Given the description of an element on the screen output the (x, y) to click on. 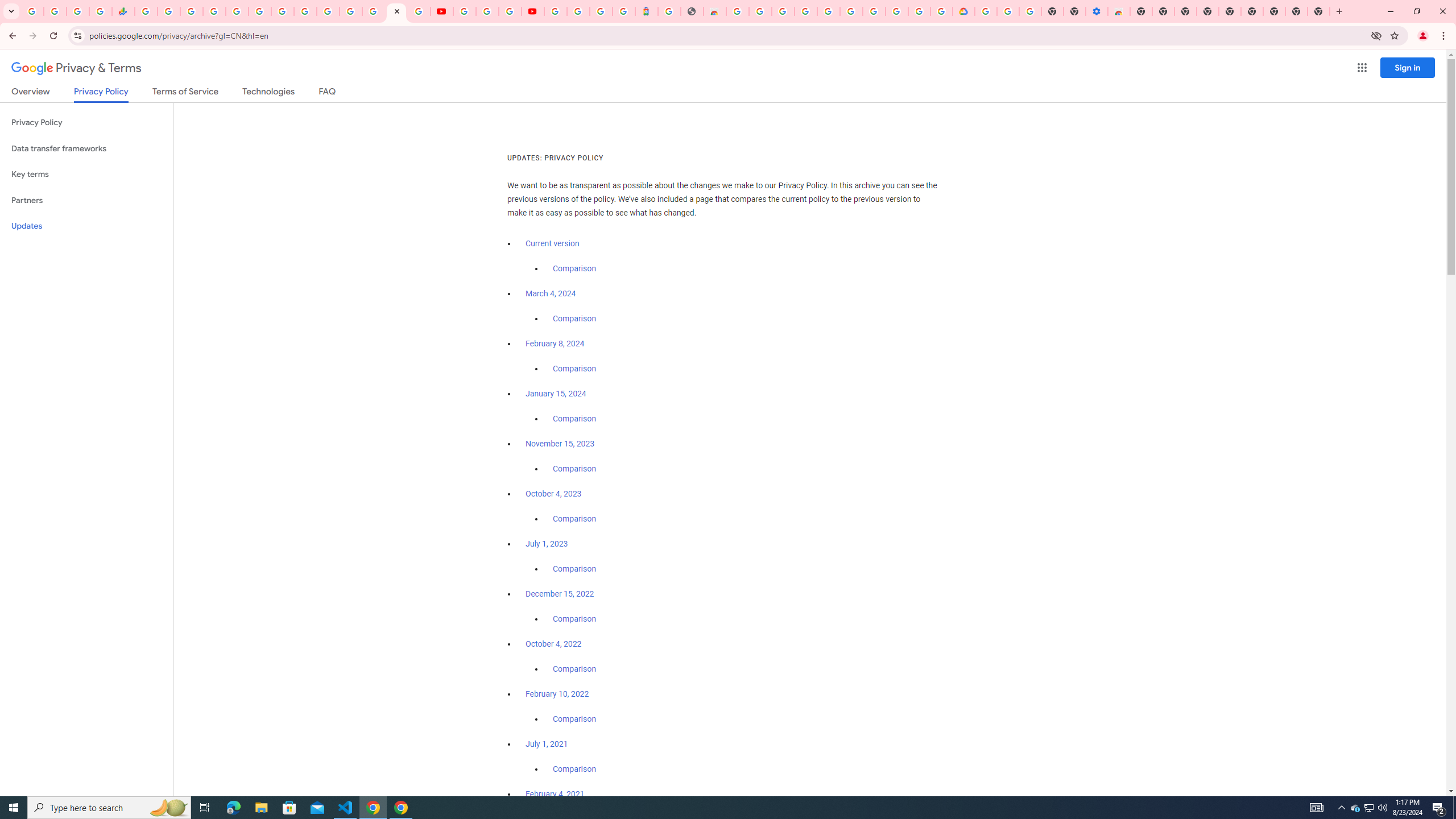
October 4, 2023 (553, 493)
October 4, 2022 (553, 643)
Google Account Help (486, 11)
Browse the Google Chrome Community - Google Chrome Community (942, 11)
February 4, 2021 (555, 793)
Android TV Policies and Guidelines - Transparency Center (282, 11)
Sign in - Google Accounts (555, 11)
